Given the description of an element on the screen output the (x, y) to click on. 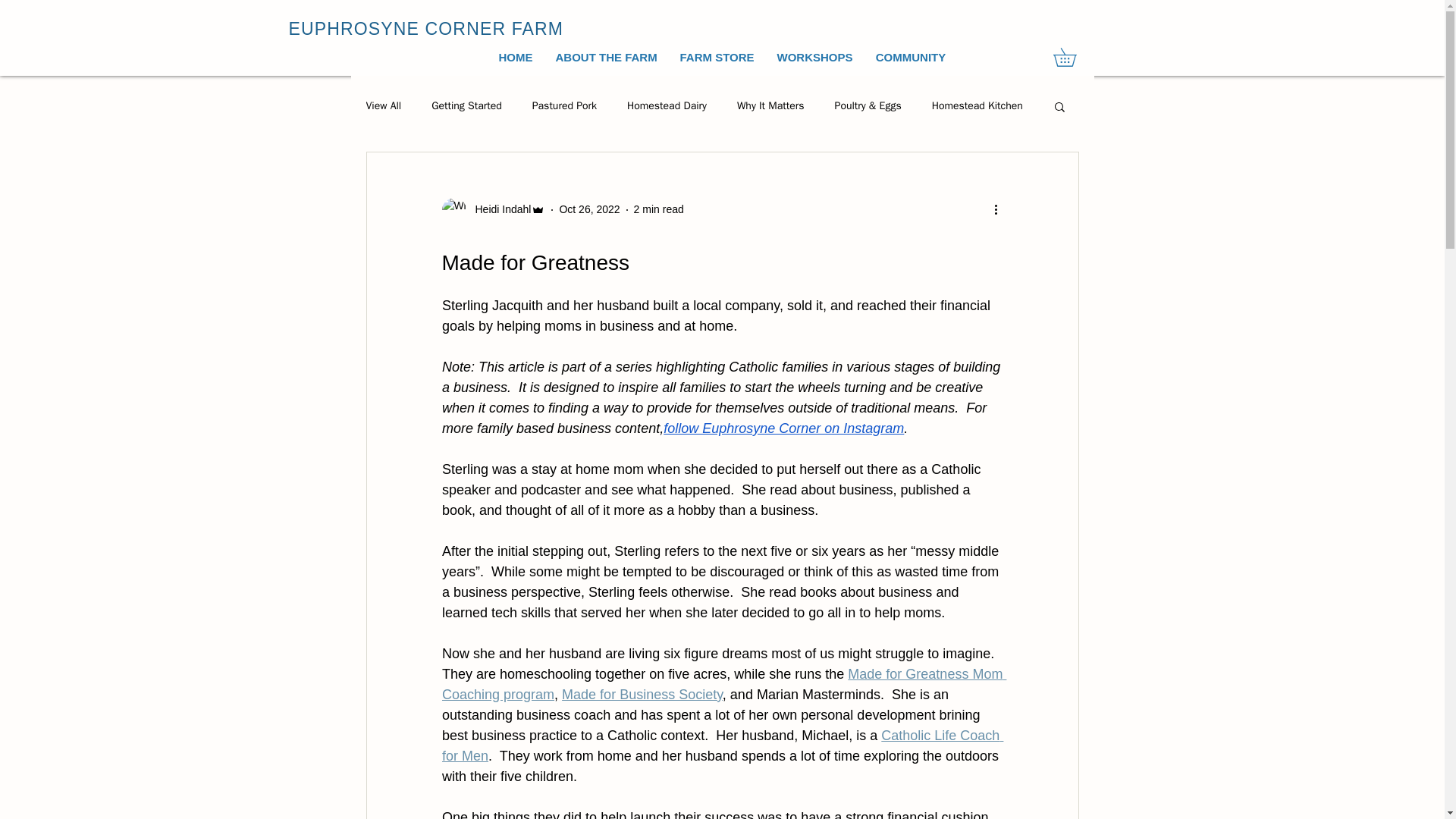
ABOUT THE FARM (606, 57)
Made for Greatness Mom Coaching program (723, 683)
Heidi Indahl (498, 209)
Pastured Pork (564, 106)
Oct 26, 2022 (589, 209)
Why It Matters (770, 106)
FARM STORE (716, 57)
View All (383, 106)
Homestead Dairy (666, 106)
Getting Started (466, 106)
HOME (514, 57)
Made for Business Society (642, 694)
Catholic Life Coach for Men (722, 745)
WORKSHOPS (814, 57)
Heidi Indahl (492, 209)
